Given the description of an element on the screen output the (x, y) to click on. 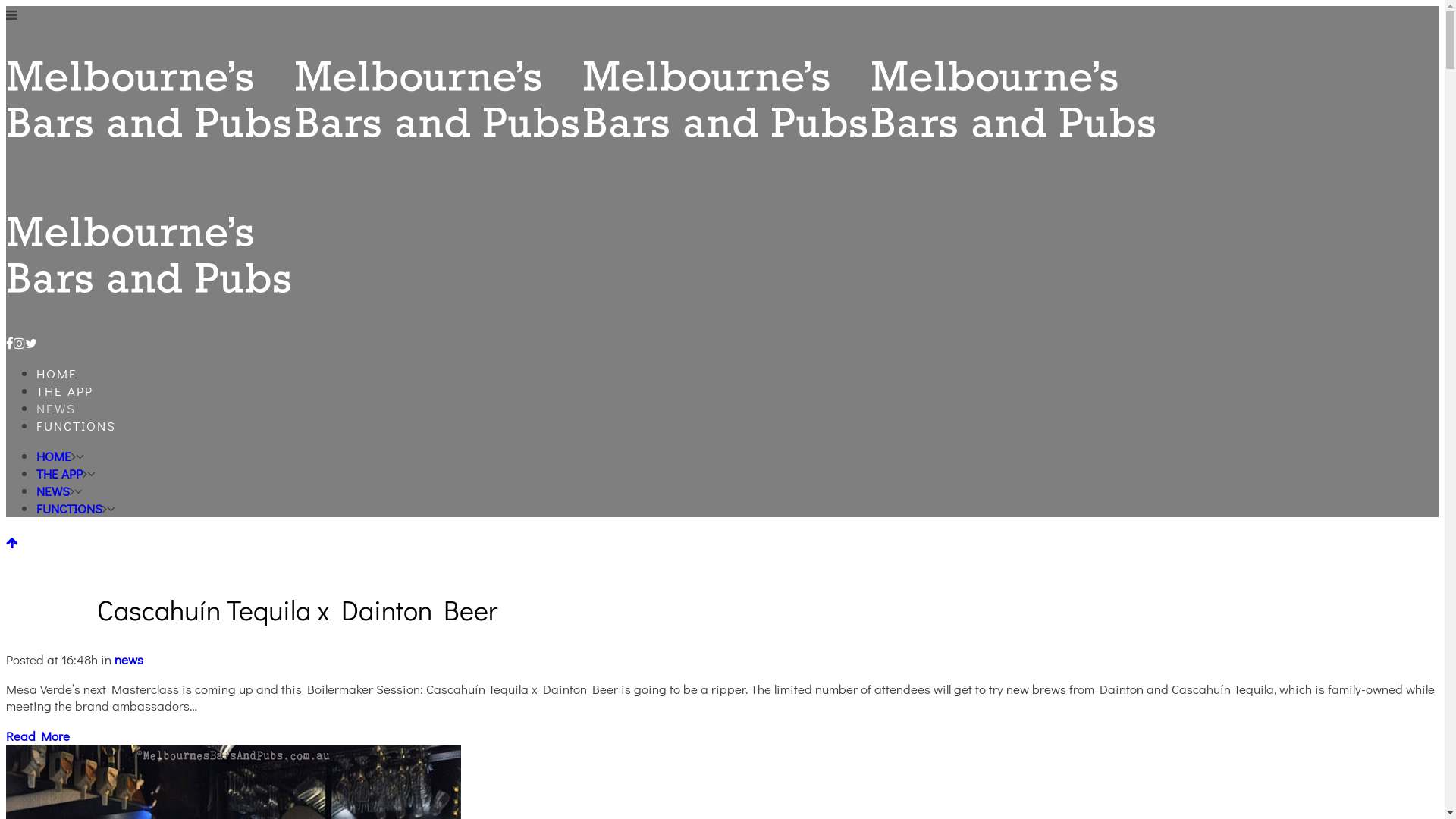
FUNCTIONS Element type: text (69, 508)
HOME Element type: text (53, 455)
HOME Element type: text (56, 373)
Read More Element type: text (37, 735)
NEWS Element type: text (52, 490)
THE APP Element type: text (59, 473)
NEWS Element type: text (55, 408)
news Element type: text (128, 659)
THE APP Element type: text (64, 390)
FUNCTIONS Element type: text (76, 425)
